Given the description of an element on the screen output the (x, y) to click on. 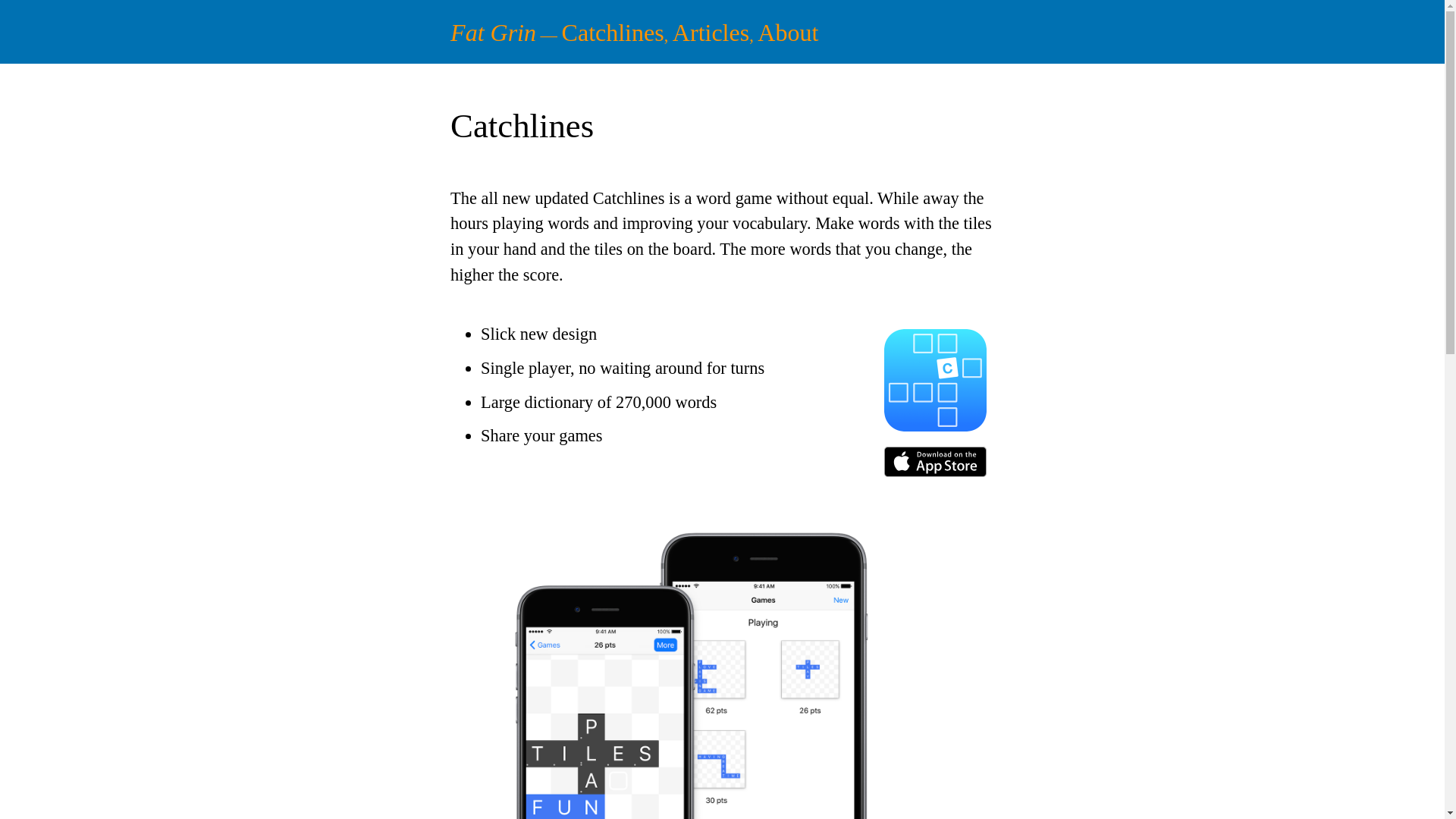
Fat Grin (492, 31)
About (787, 31)
Download on the App Store (935, 461)
Catchlines (612, 31)
Catchlines (935, 379)
Articles (710, 31)
